Given the description of an element on the screen output the (x, y) to click on. 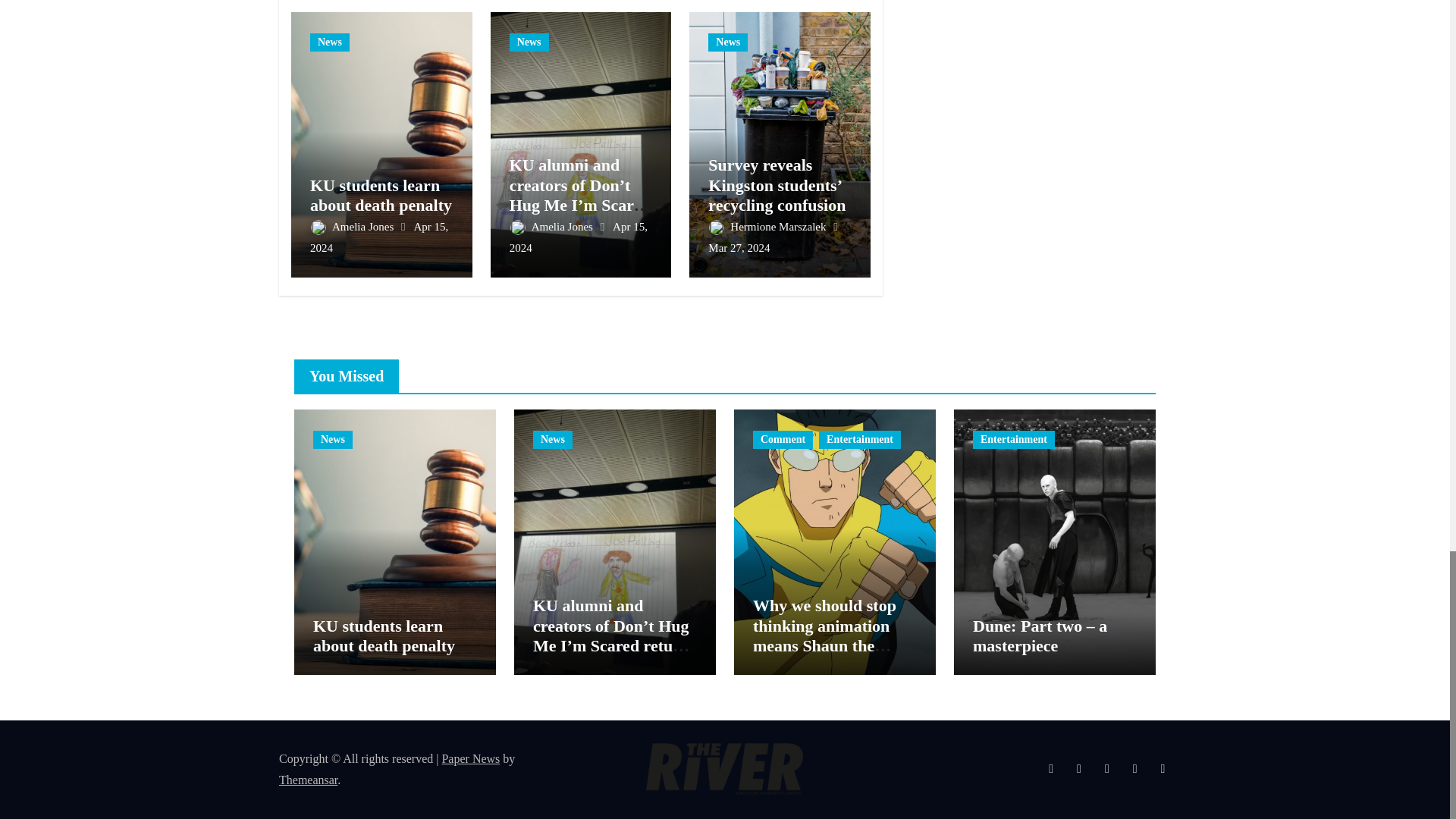
Permalink to: KU students learn about death penalty (380, 195)
